Given the description of an element on the screen output the (x, y) to click on. 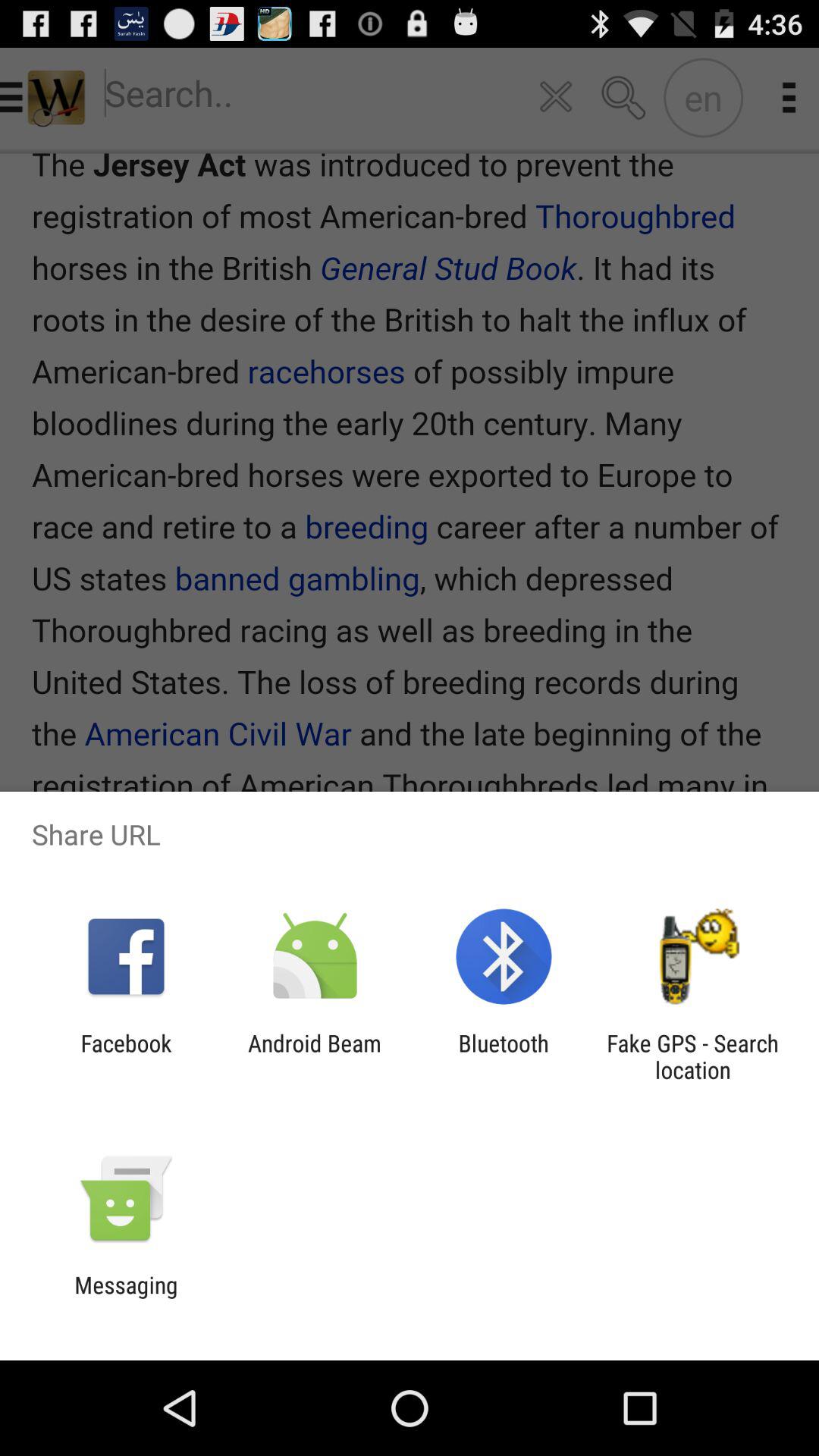
swipe until the bluetooth (503, 1056)
